Given the description of an element on the screen output the (x, y) to click on. 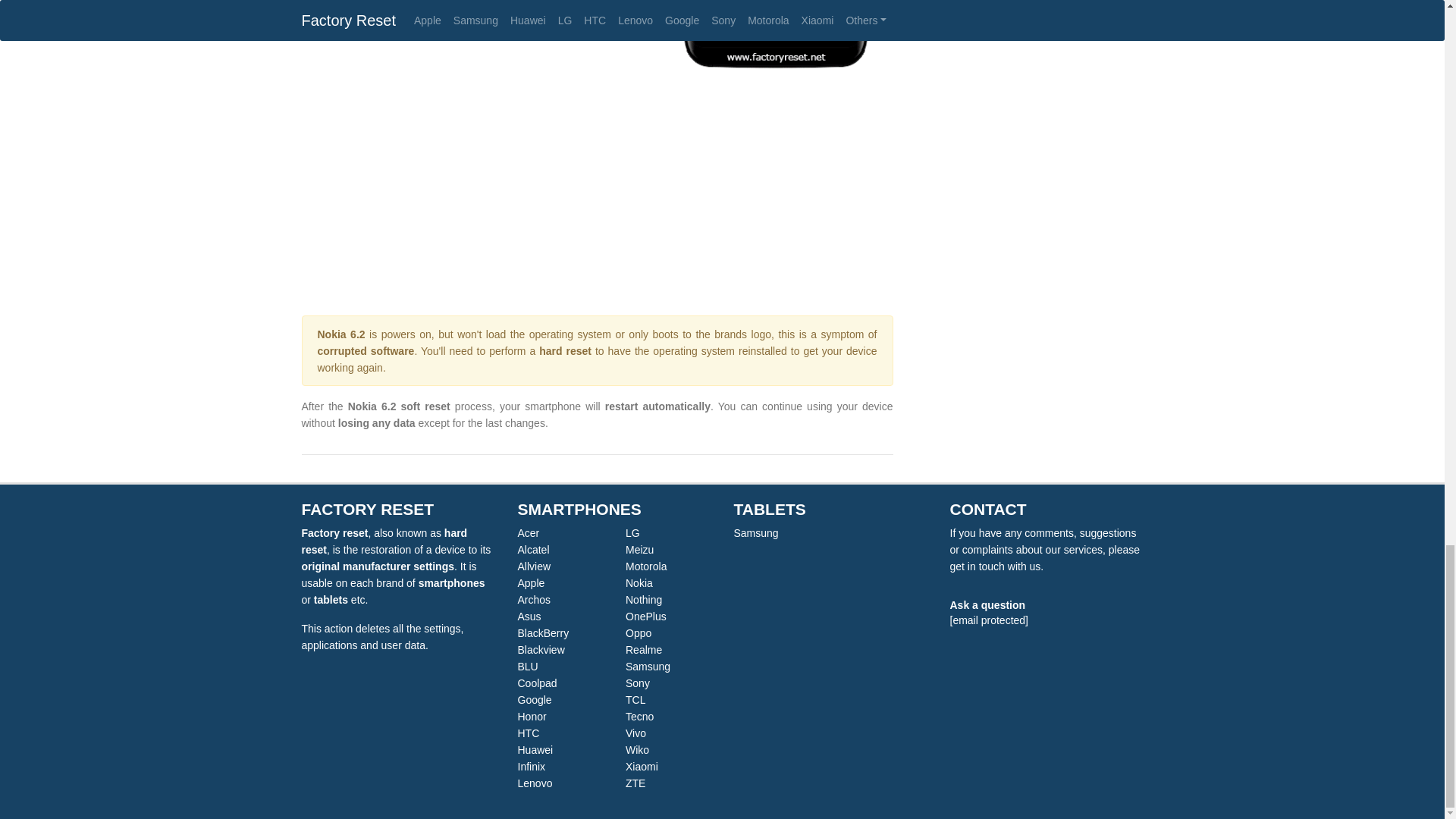
Allview (533, 566)
Apple (530, 582)
Alcatel (532, 549)
Acer (527, 532)
